Given the description of an element on the screen output the (x, y) to click on. 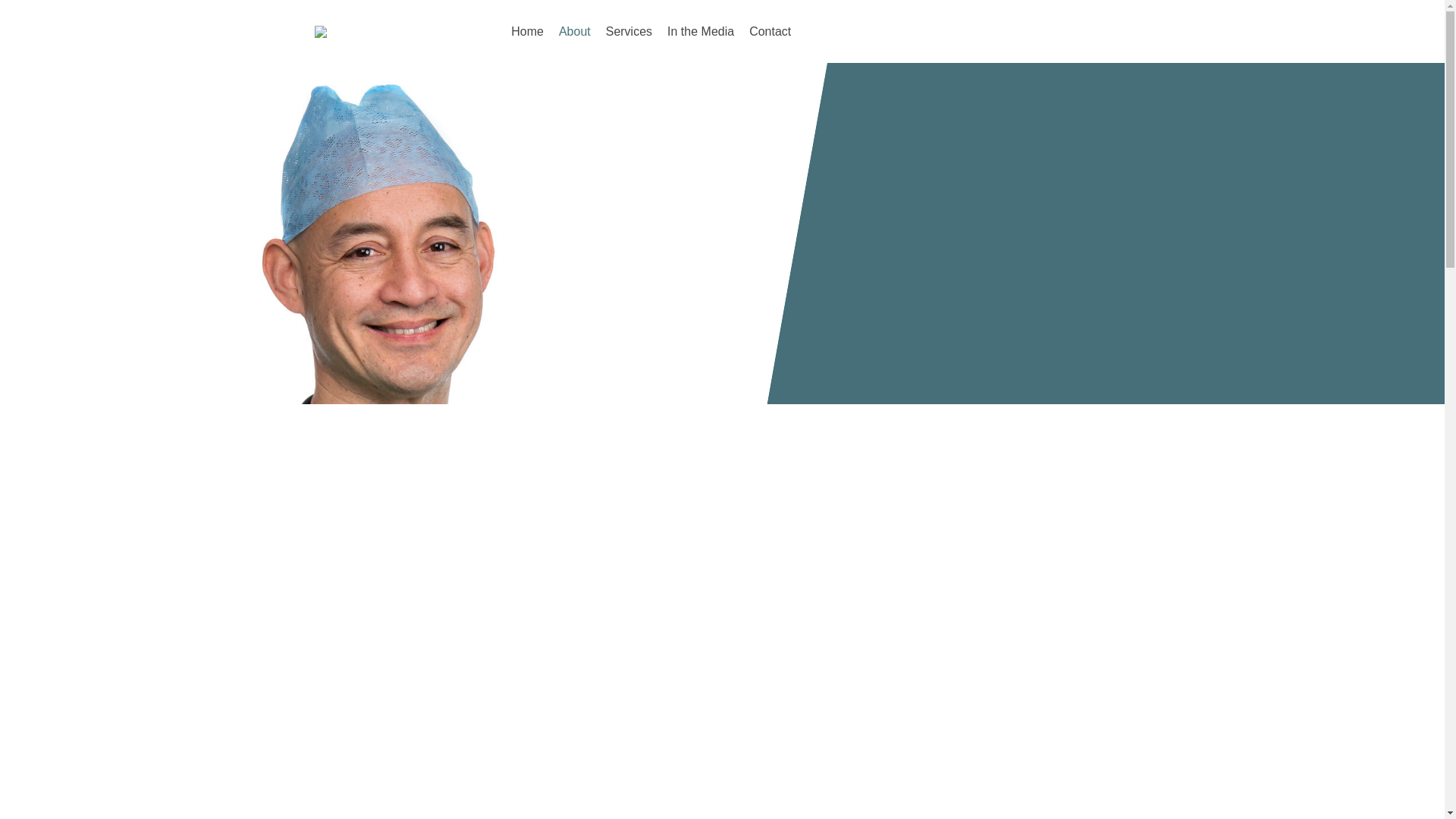
About (574, 31)
Home (527, 31)
Contact (769, 31)
Services (628, 31)
Mr David Nunns-logo (377, 31)
In the Media (700, 31)
